Given the description of an element on the screen output the (x, y) to click on. 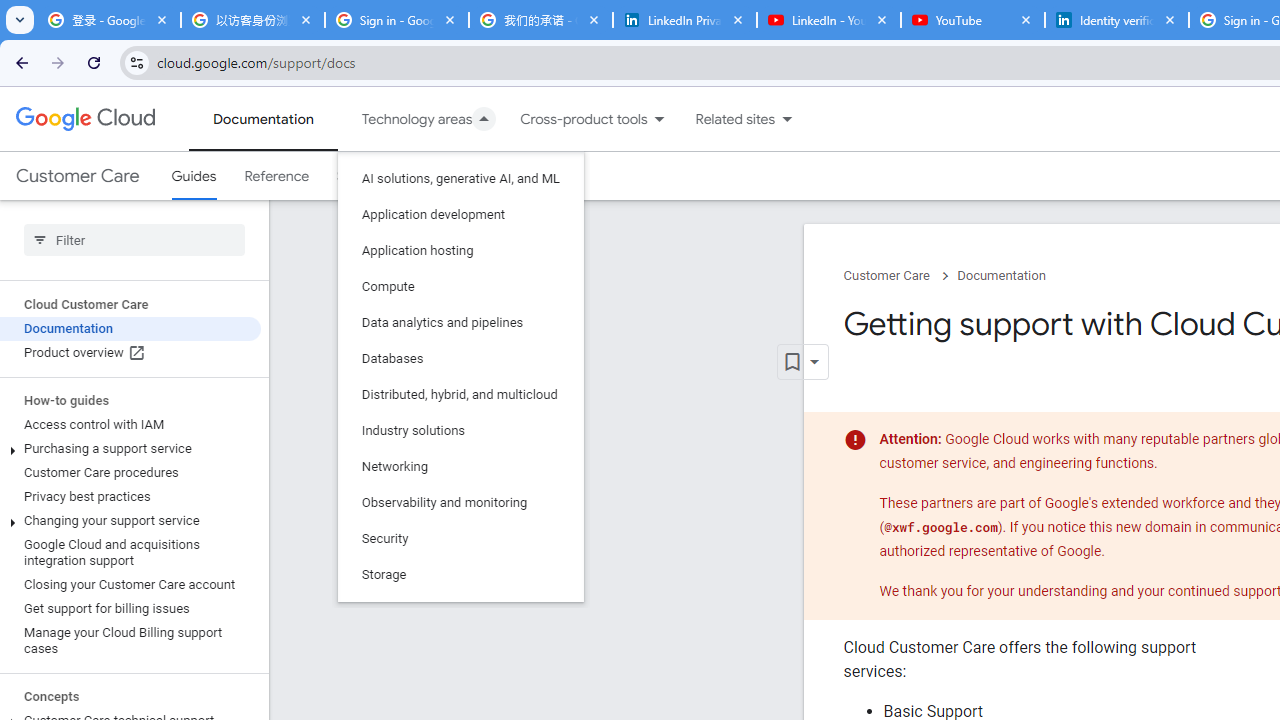
Purchasing a support service (130, 448)
Type to filter (134, 239)
Cross-product tools (571, 119)
Google Cloud and acquisitions integration support (130, 552)
Support (362, 175)
Technology areas (404, 119)
Google Cloud (84, 118)
Closing your Customer Care account (130, 584)
Access control with IAM (130, 425)
Dropdown menu for Related sites (787, 119)
